Given the description of an element on the screen output the (x, y) to click on. 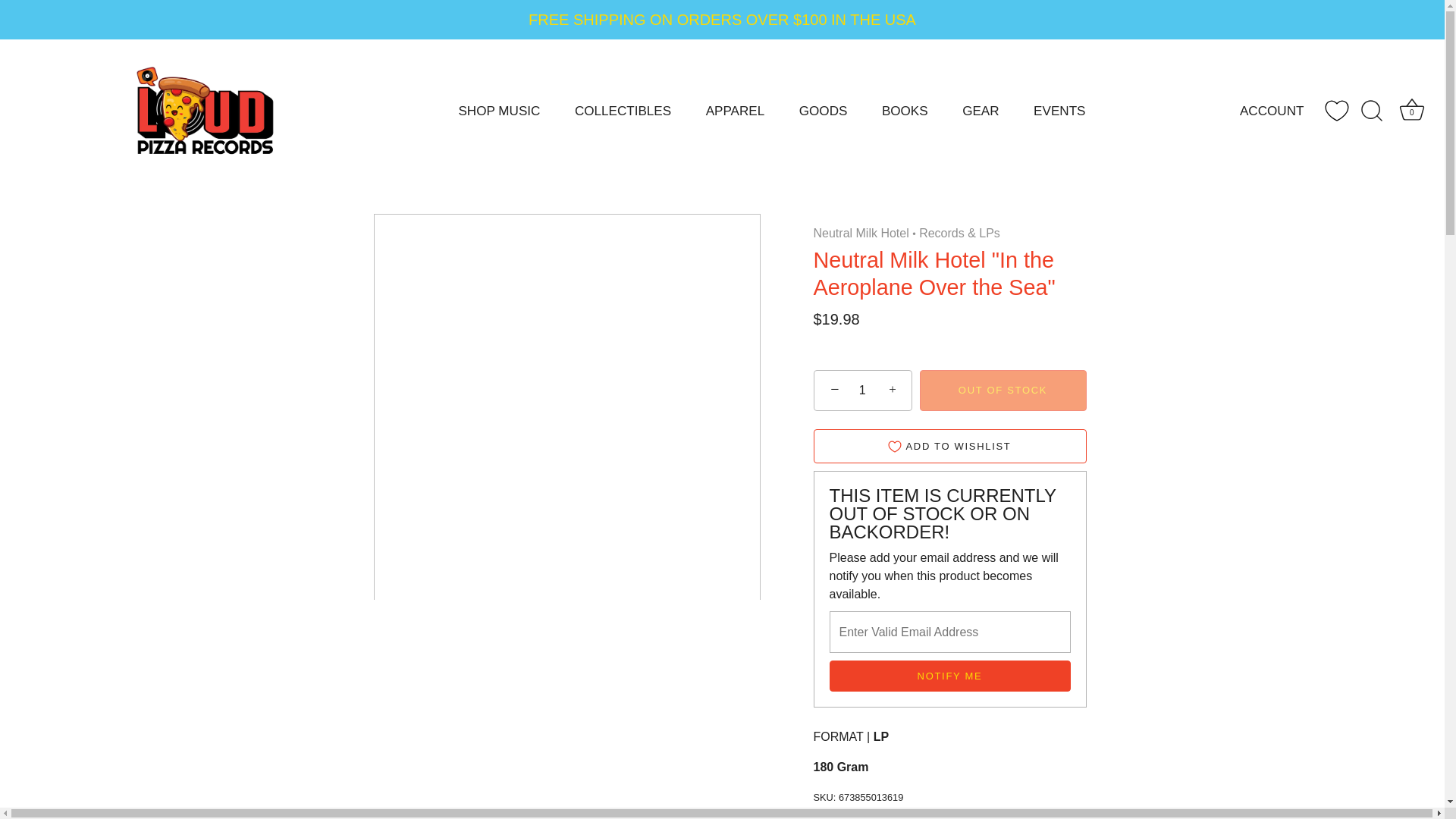
COLLECTIBLES (622, 110)
Basket (1411, 109)
SHOP MUSIC (499, 110)
